Given the description of an element on the screen output the (x, y) to click on. 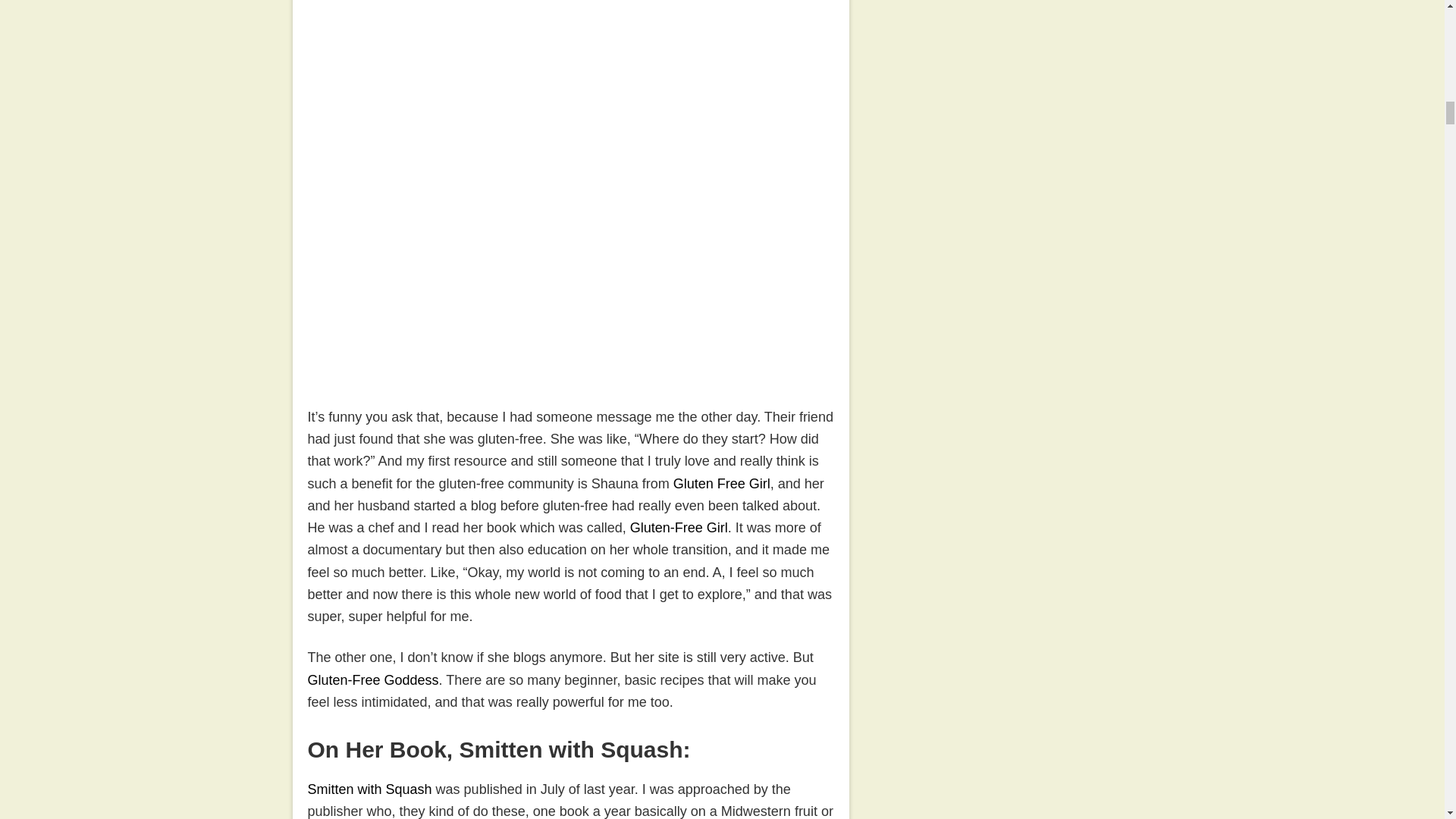
Gluten-Free Goddess (373, 679)
Gluten-Free Girl (679, 527)
Smitten with Squash (369, 789)
Gluten Free Girl (721, 483)
